Given the description of an element on the screen output the (x, y) to click on. 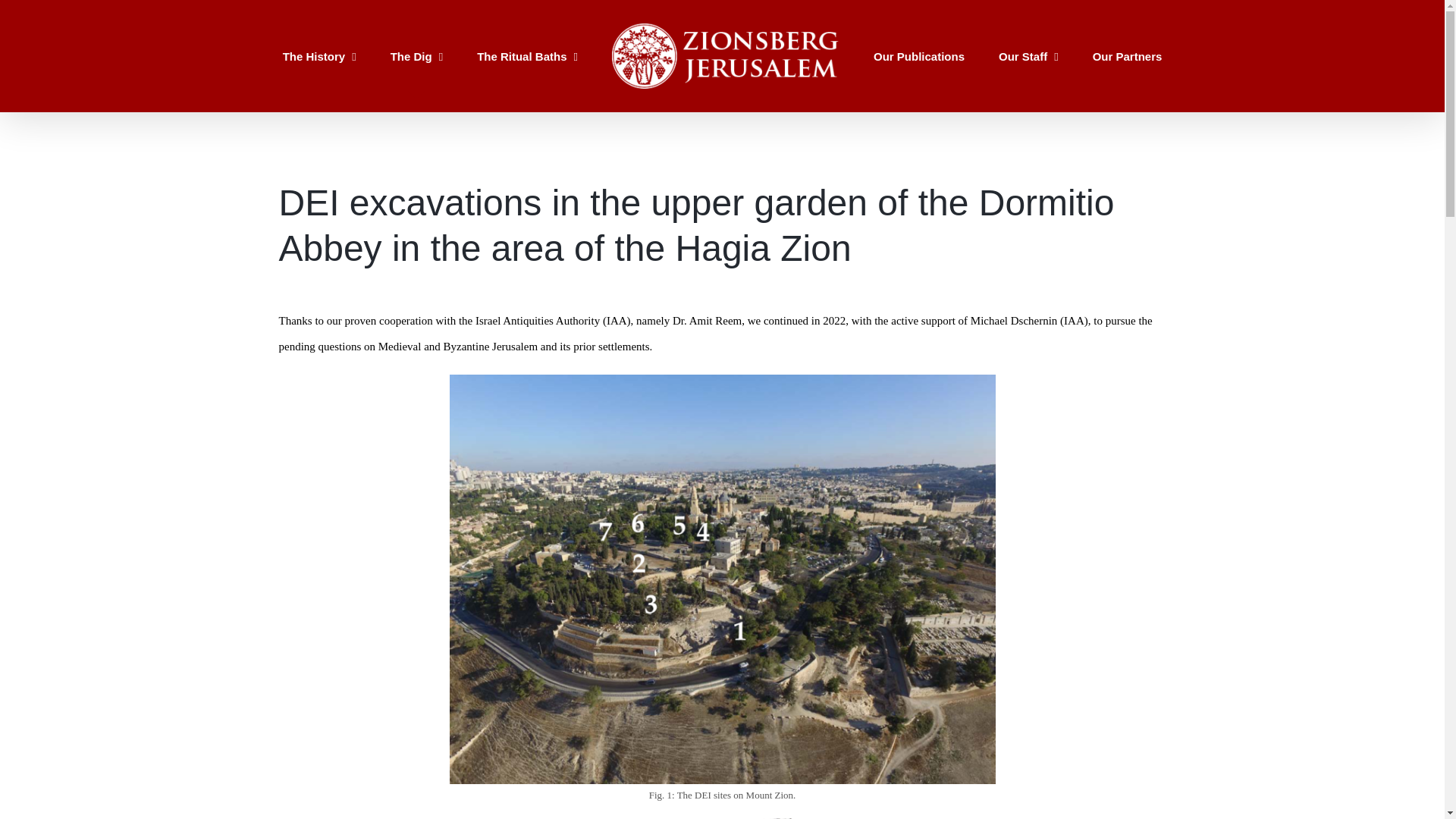
The History (319, 55)
Our Publications (918, 55)
Our Partners (1127, 55)
The Ritual Baths (527, 55)
